Given the description of an element on the screen output the (x, y) to click on. 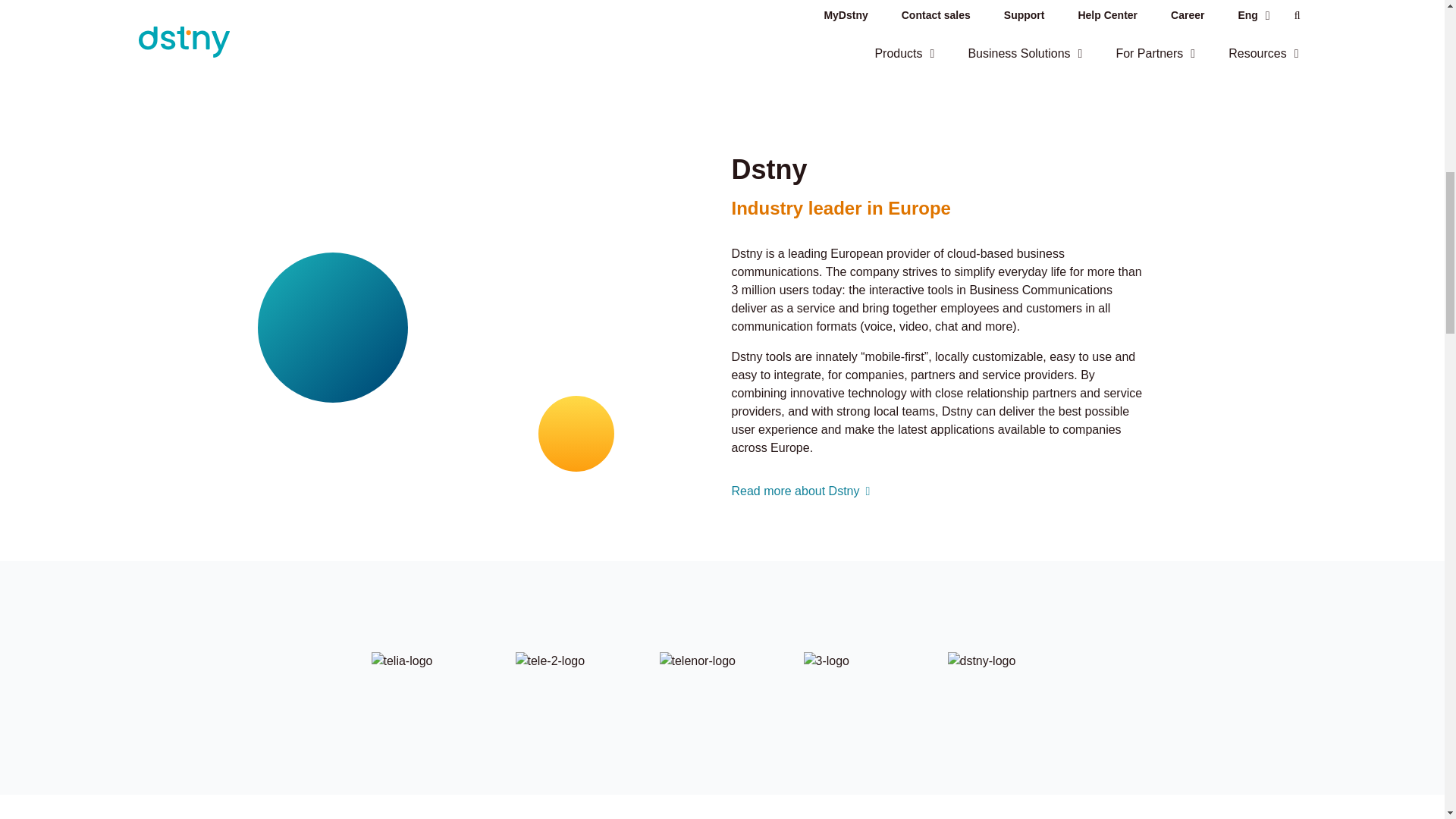
Kvinna med mobiltelefon (470, 327)
